Given the description of an element on the screen output the (x, y) to click on. 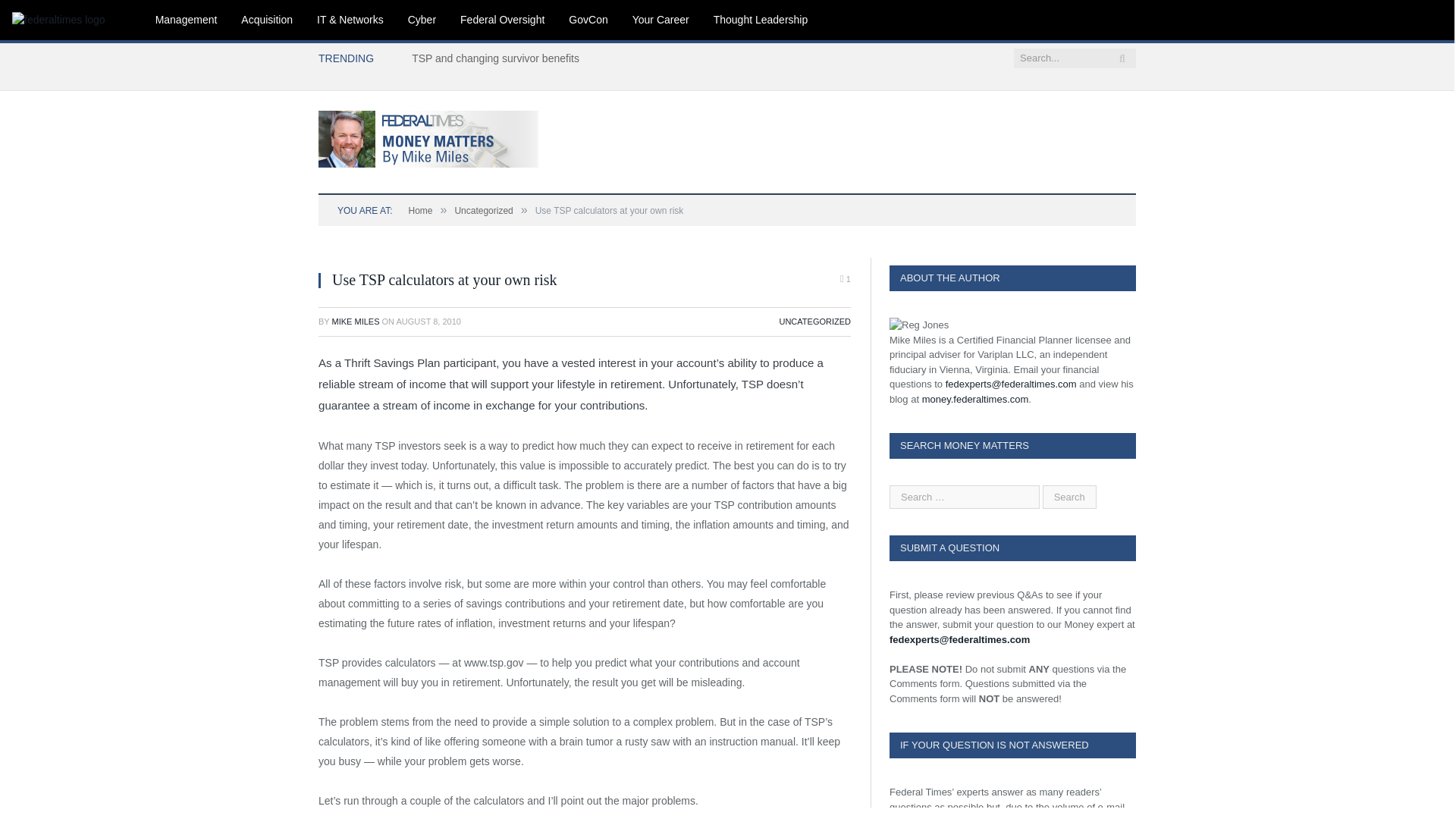
TSP and changing survivor benefits (499, 58)
2010-08-08 (428, 320)
Your Career (660, 19)
Home (419, 210)
UNCATEGORIZED (814, 320)
Search (1069, 496)
Cyber (422, 19)
MIKE MILES (355, 320)
TSP and changing survivor benefits (499, 58)
Federal Oversight (502, 19)
